Given the description of an element on the screen output the (x, y) to click on. 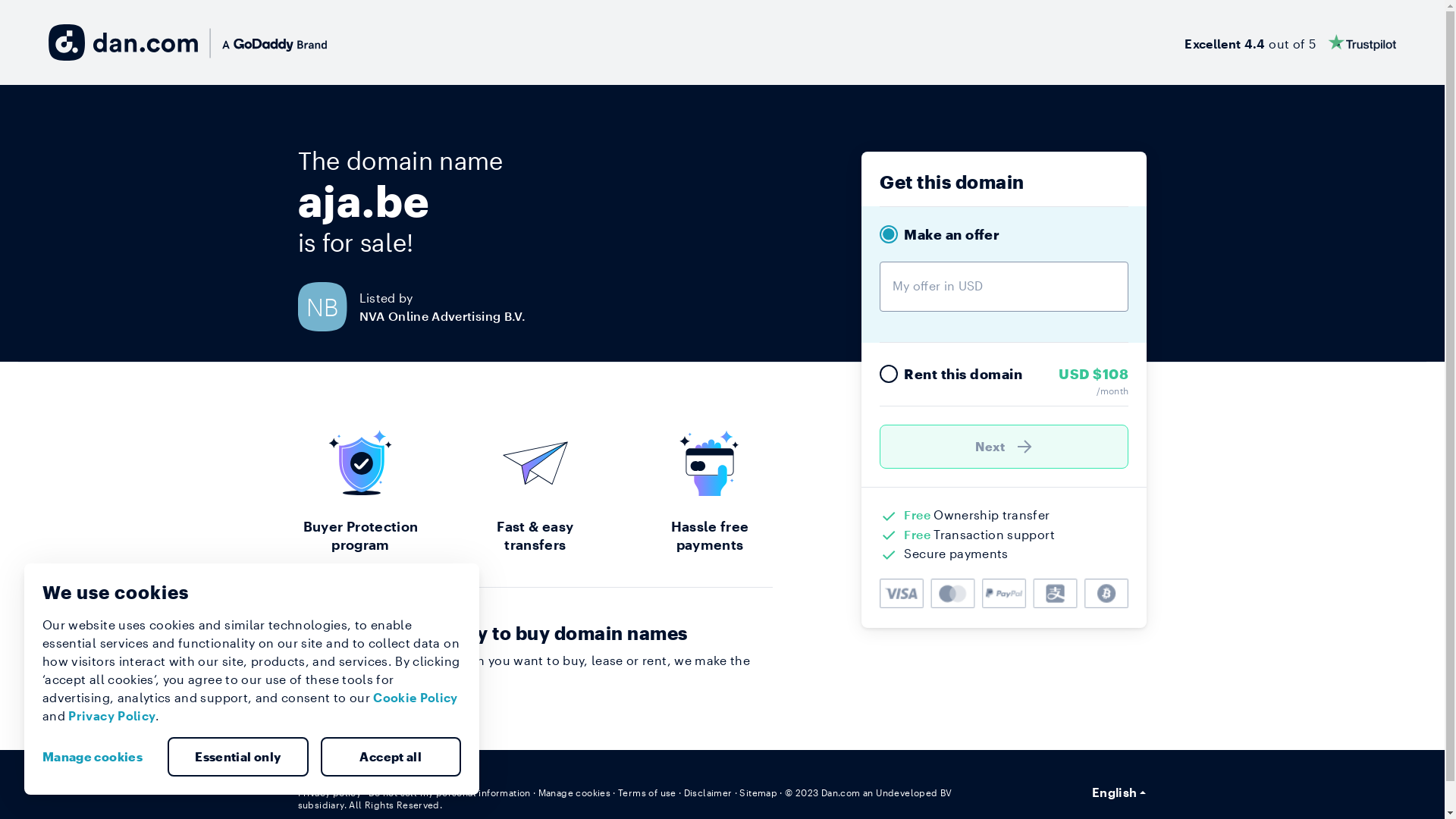
Privacy policy Element type: text (328, 792)
Disclaimer Element type: text (708, 792)
Manage cookies Element type: text (98, 756)
Terms of use Element type: text (647, 792)
Accept all Element type: text (390, 756)
Next
) Element type: text (1003, 446)
Sitemap Element type: text (758, 792)
Do not sell my personal information Element type: text (449, 792)
Essential only Element type: text (237, 756)
English Element type: text (1119, 792)
Manage cookies Element type: text (574, 792)
Privacy Policy Element type: text (111, 715)
Excellent 4.4 out of 5 Element type: text (1290, 42)
Cookie Policy Element type: text (415, 697)
